Given the description of an element on the screen output the (x, y) to click on. 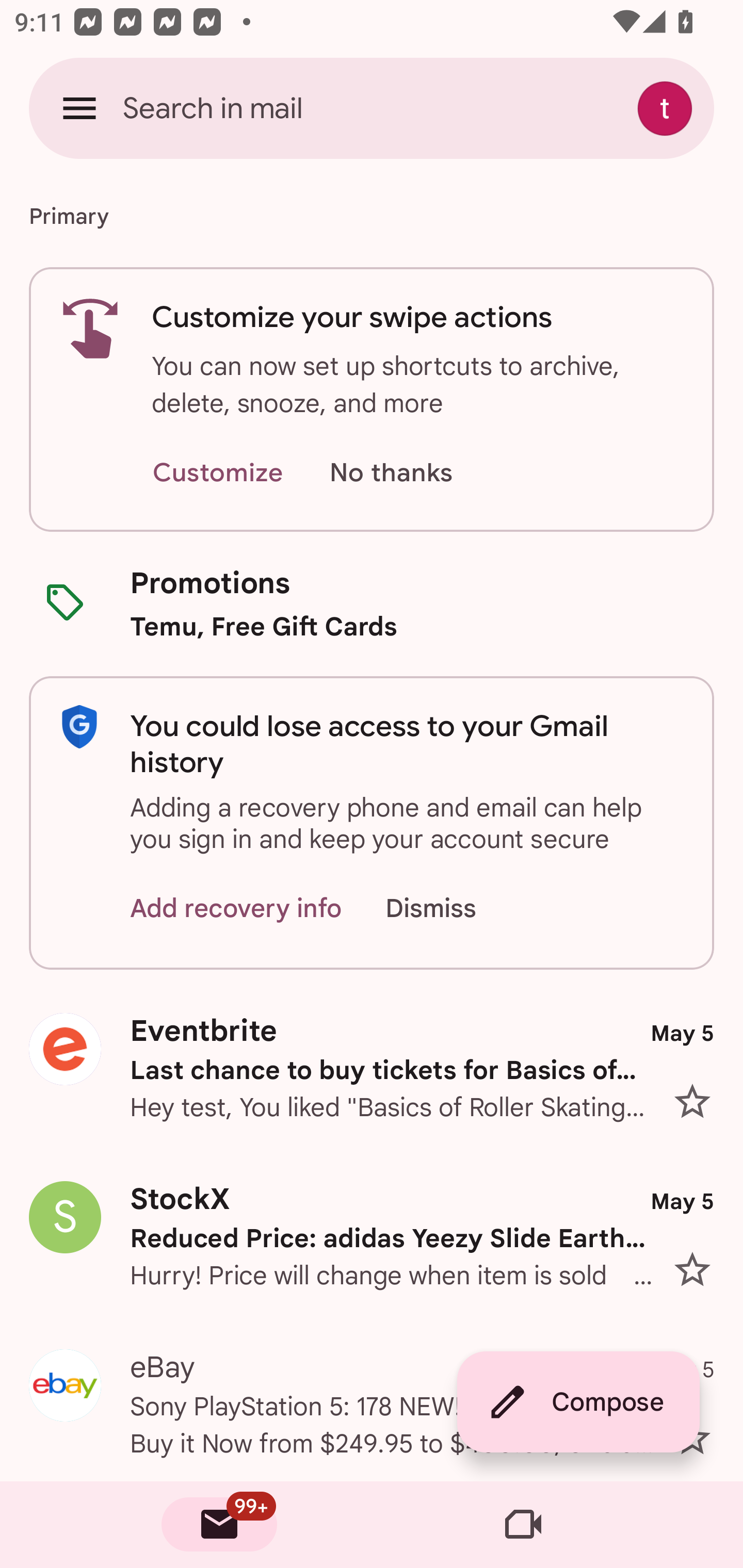
Open navigation drawer (79, 108)
Customize (217, 473)
No thanks (390, 473)
Promotions Temu, Free Gift Cards (371, 603)
Add recovery info (235, 908)
Dismiss (449, 908)
Compose (577, 1401)
Meet (523, 1524)
